Given the description of an element on the screen output the (x, y) to click on. 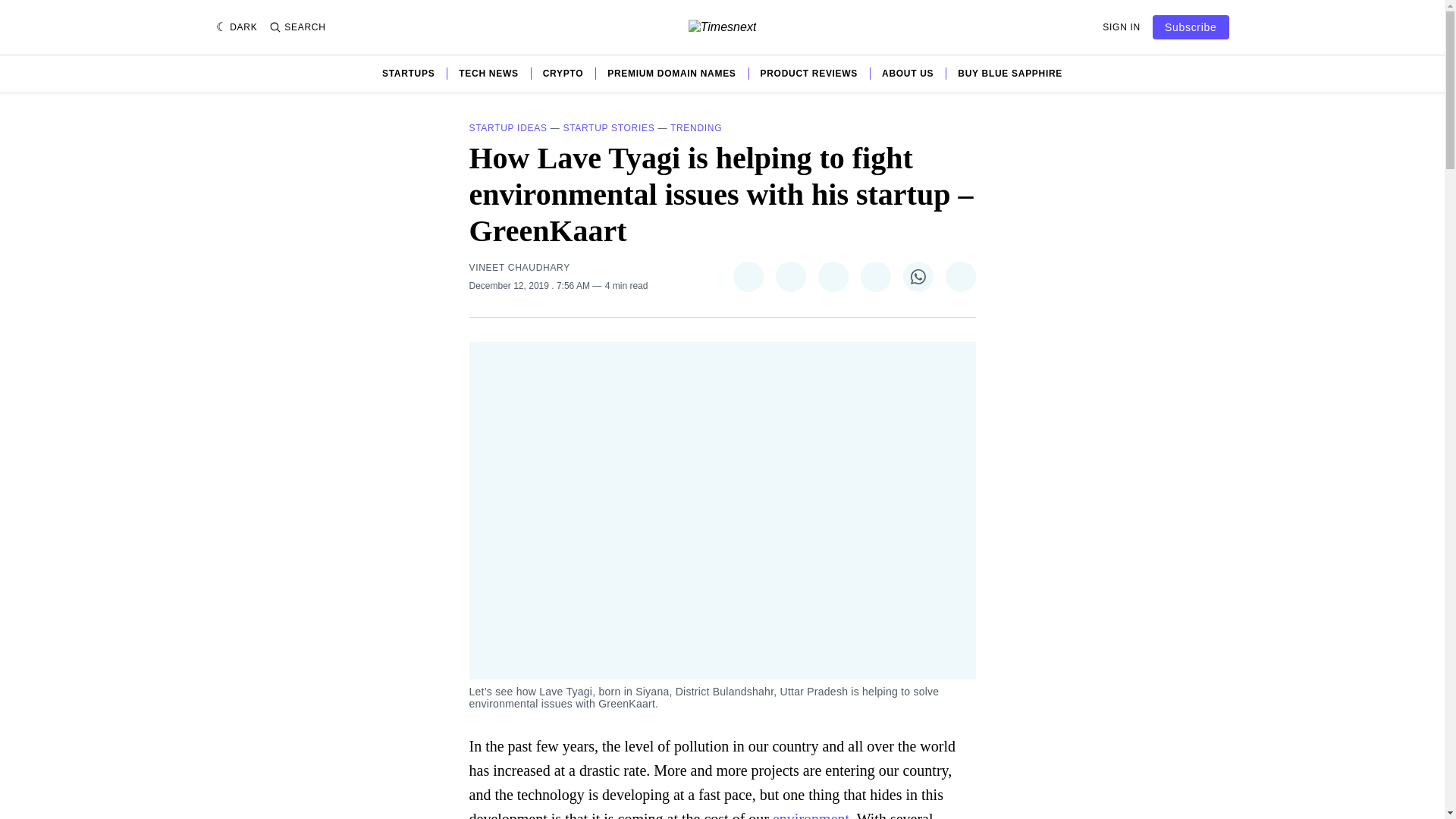
Share on Facebook (789, 276)
SEARCH (296, 27)
Share on Twitter (747, 276)
environment (810, 814)
SIGN IN (1121, 27)
PREMIUM DOMAIN NAMES (671, 73)
STARTUPS (407, 73)
Dark (236, 27)
ABOUT US (907, 73)
Share on WhatsApp (917, 276)
